Given the description of an element on the screen output the (x, y) to click on. 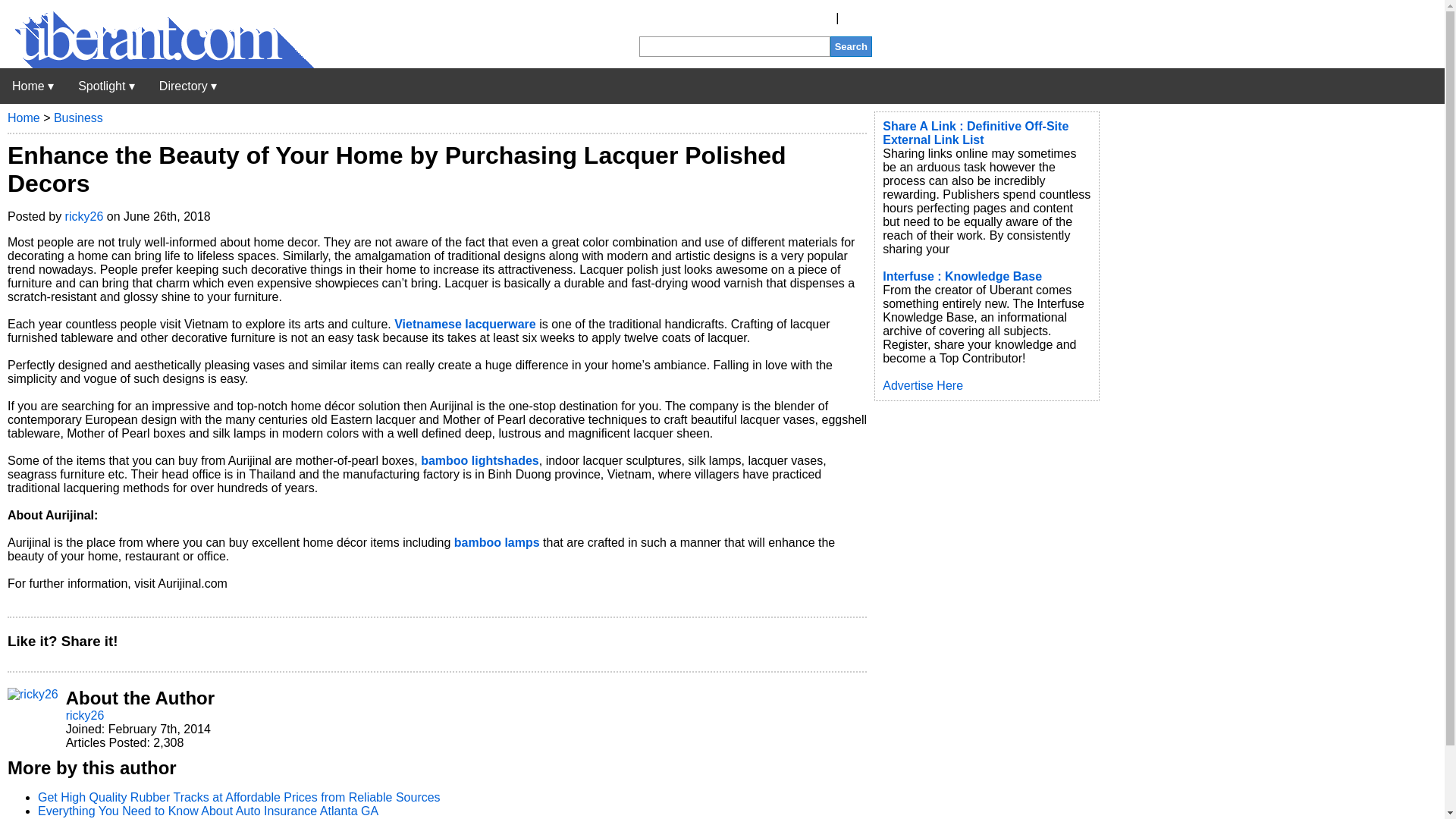
Register (809, 17)
Uberant (157, 63)
Search (850, 46)
Search (850, 46)
Uberant (32, 85)
Login (857, 17)
